Given the description of an element on the screen output the (x, y) to click on. 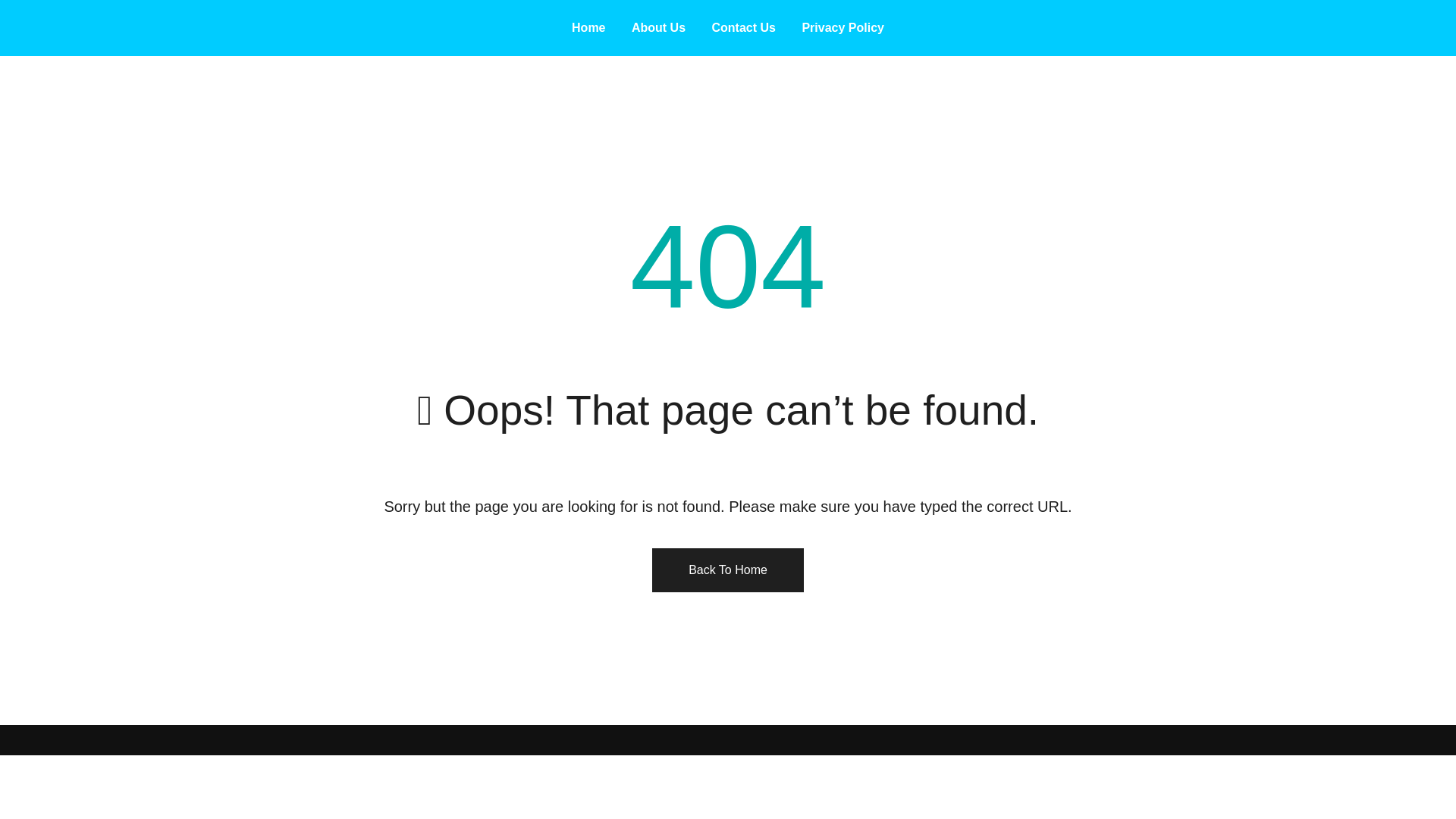
Contact Us (743, 27)
Privacy Policy (842, 27)
About Us (658, 27)
Back To Home (727, 569)
Home (587, 27)
